Given the description of an element on the screen output the (x, y) to click on. 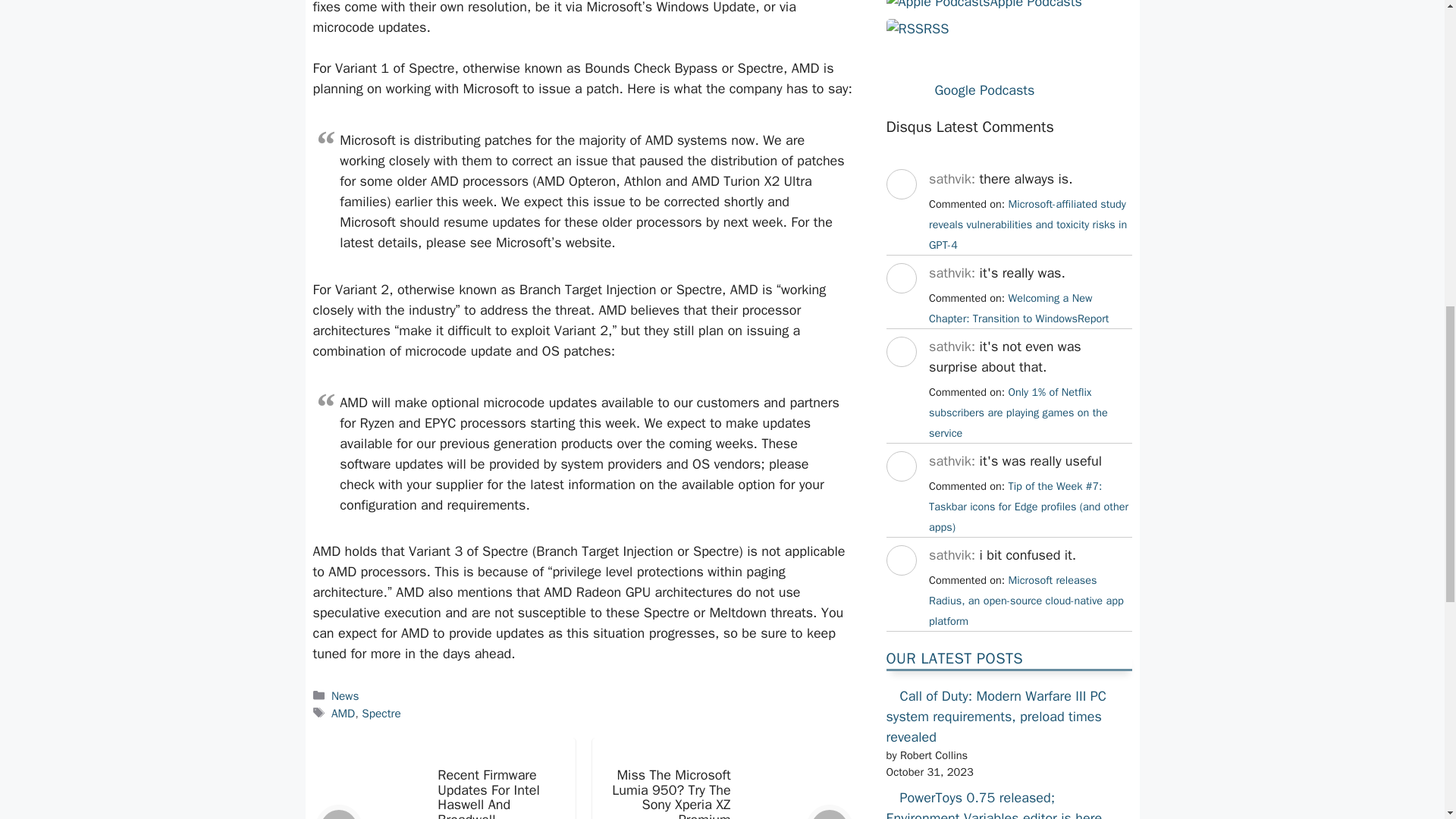
sathvik (900, 494)
sathvik (900, 212)
August 31, 2024 (1027, 224)
July 11, 2024 (1018, 411)
sathvik (900, 588)
sathvik (900, 380)
July 8, 2024 (1028, 506)
June 15, 2024 (1026, 600)
sathvik (900, 306)
July 24, 2024 (1018, 308)
